Given the description of an element on the screen output the (x, y) to click on. 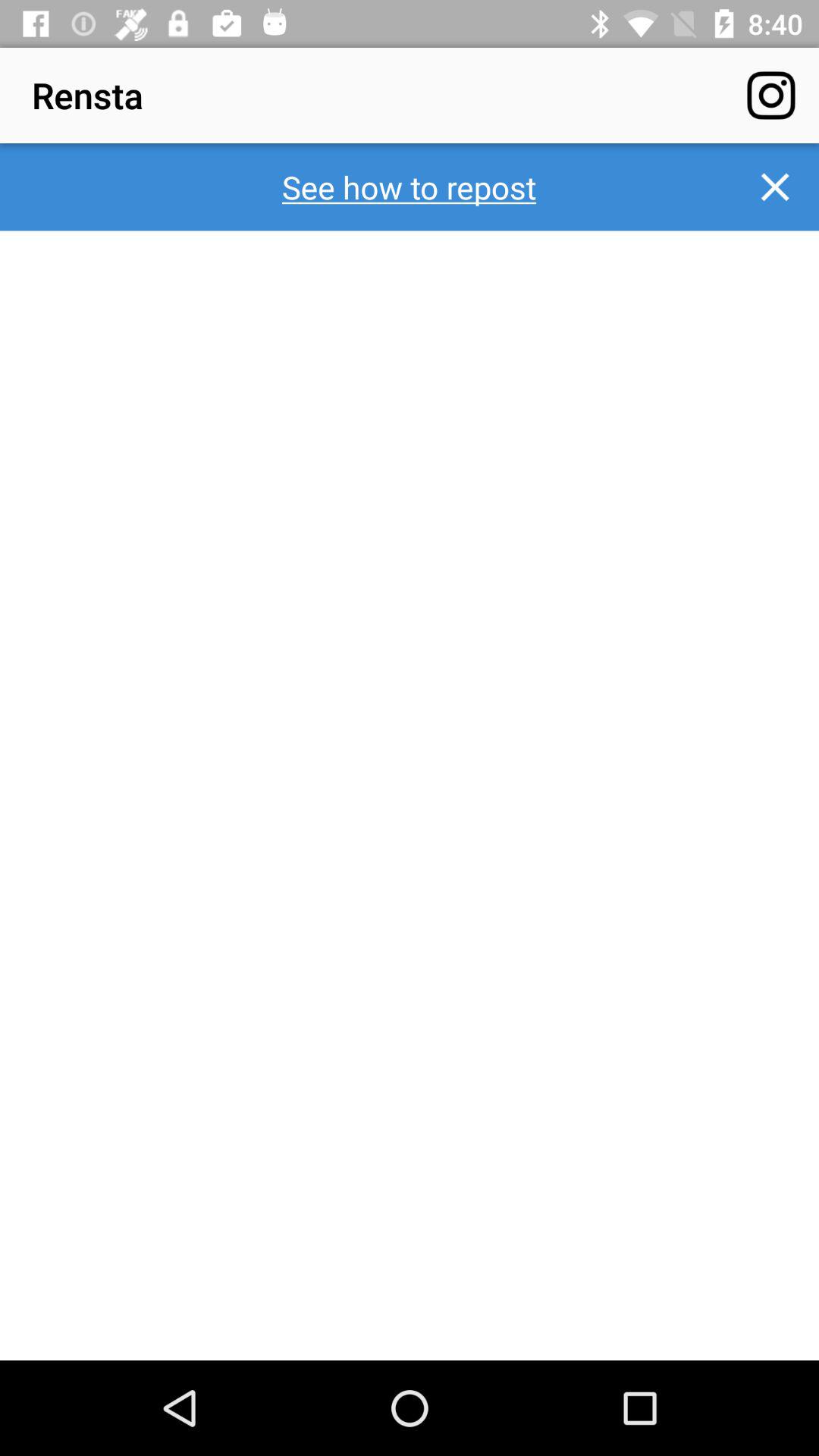
select see how to icon (409, 186)
